Given the description of an element on the screen output the (x, y) to click on. 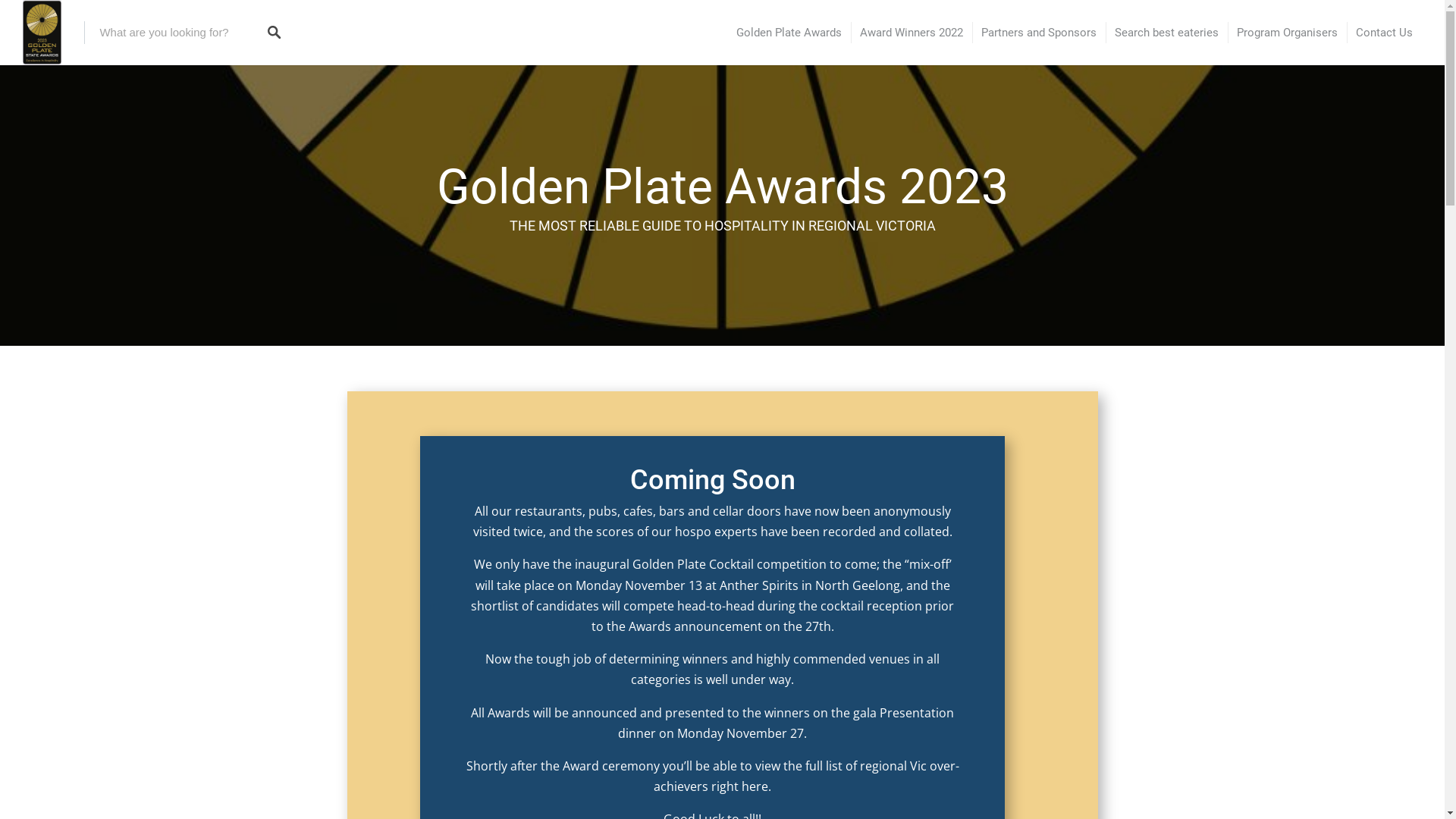
Golden Plate Awards Element type: text (788, 32)
Partners and Sponsors Element type: text (1038, 32)
Award Winners 2022 Element type: text (911, 32)
Search best eateries Element type: text (1166, 32)
Program Organisers Element type: text (1286, 32)
Contact Us Element type: text (1383, 32)
